Given the description of an element on the screen output the (x, y) to click on. 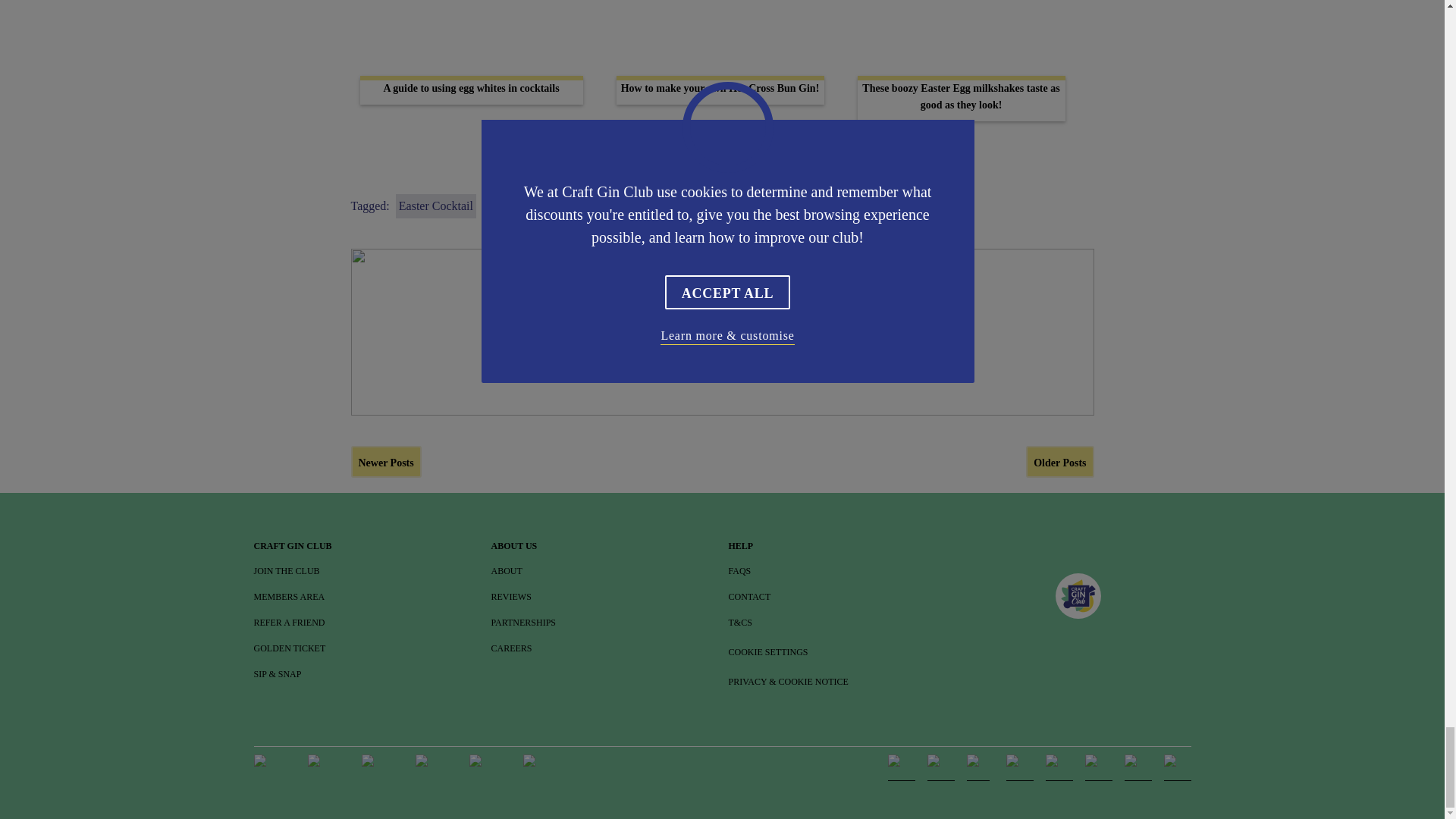
Reviews Widget (1078, 646)
